Given the description of an element on the screen output the (x, y) to click on. 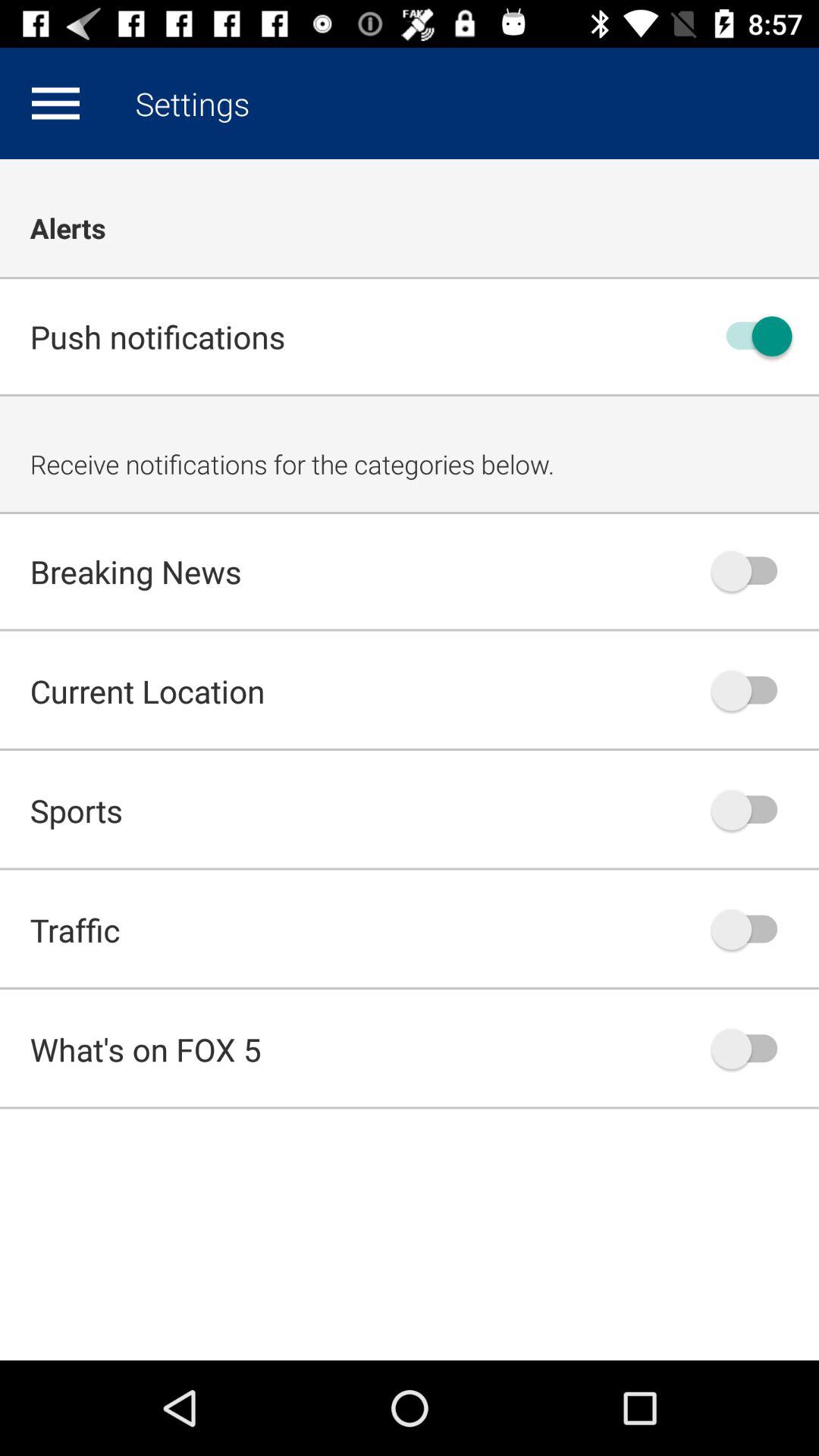
toggle off on (751, 336)
